Given the description of an element on the screen output the (x, y) to click on. 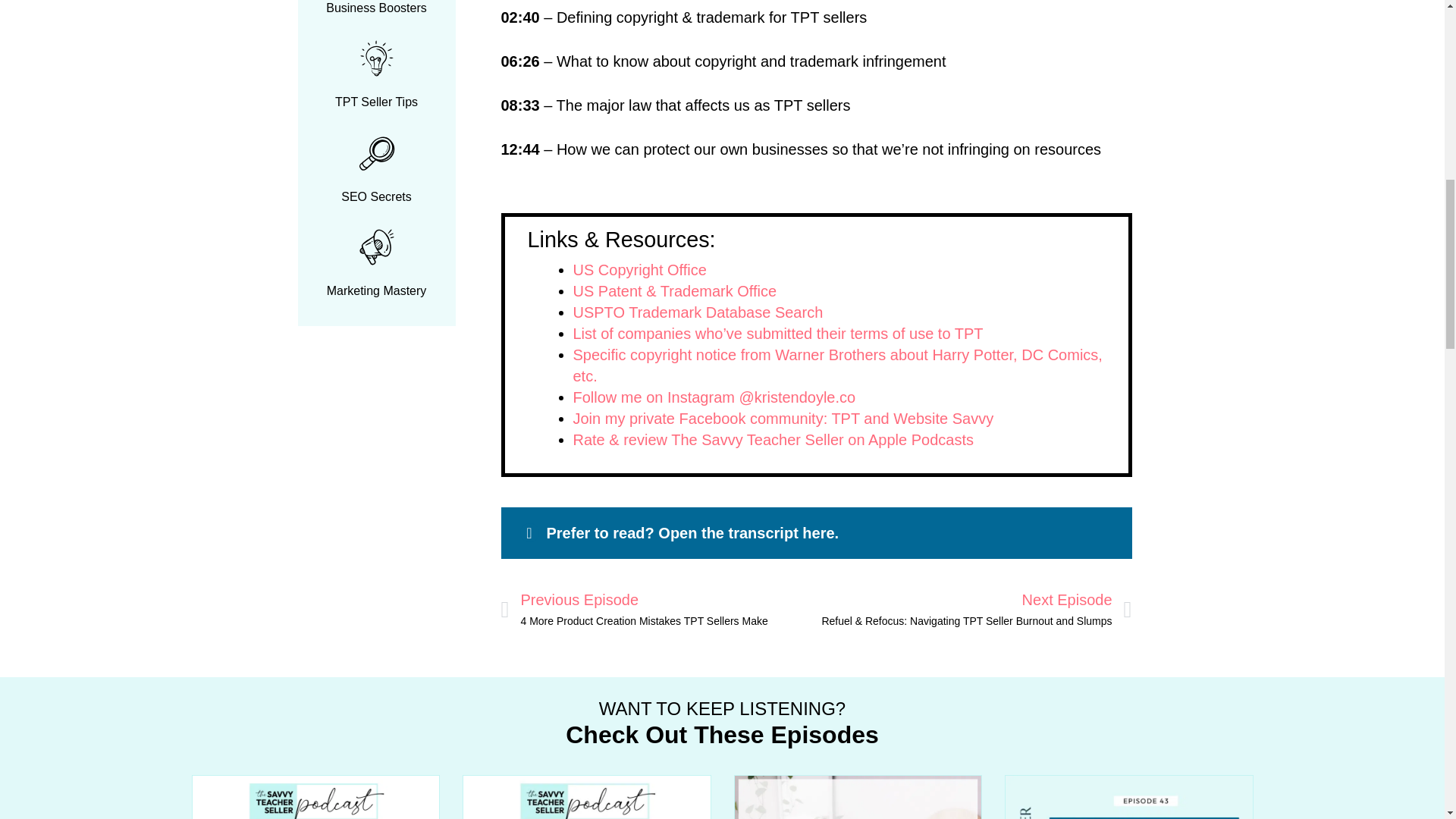
Scroll back to top (1406, 720)
Business Boosters (376, 7)
